Given the description of an element on the screen output the (x, y) to click on. 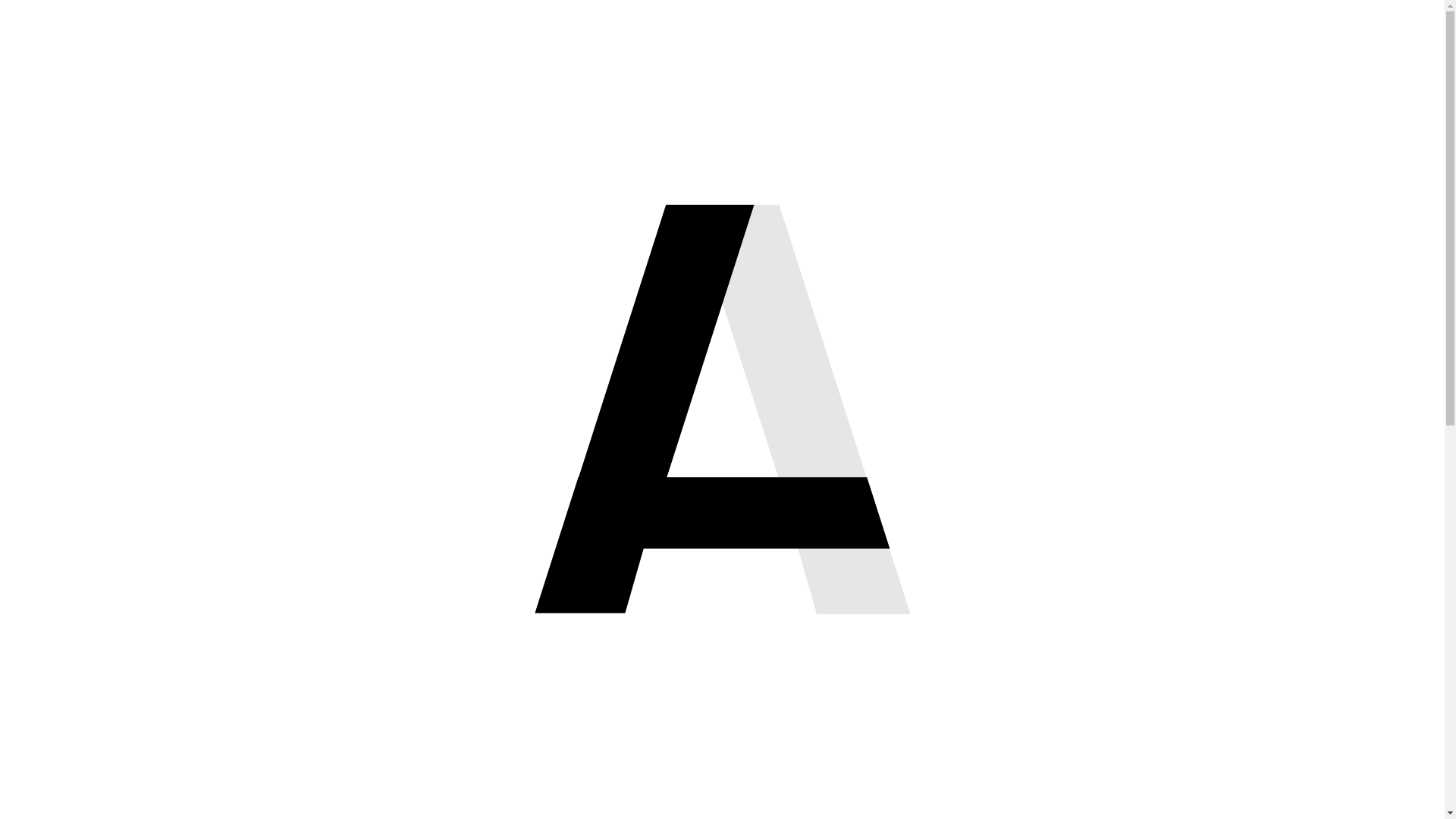
Veranstaltung im Archiv Element type: text (1345, 693)
aktuell Element type: text (1383, 27)
